Given the description of an element on the screen output the (x, y) to click on. 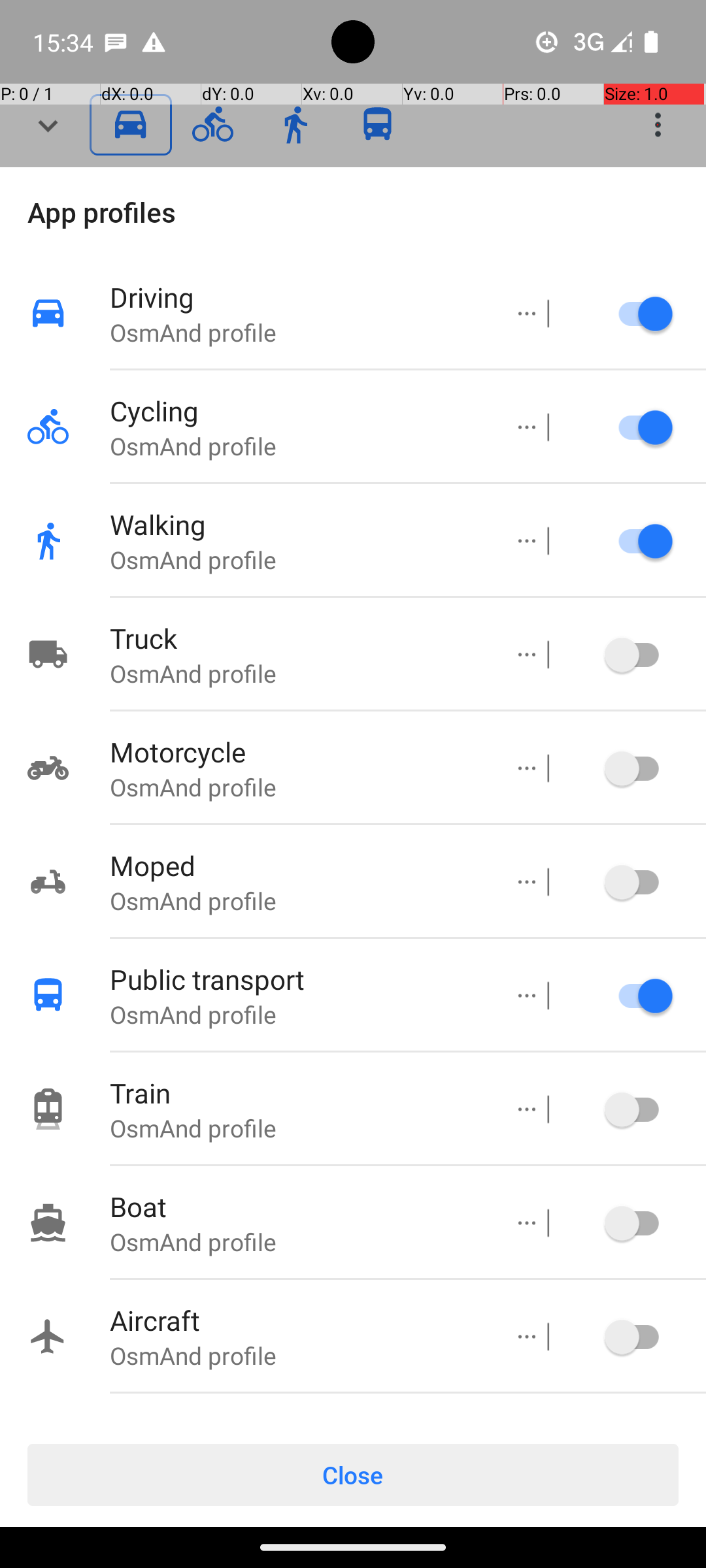
Close the dialog Element type: android.view.View (353, 125)
App profiles Element type: android.widget.TextView (353, 211)
OsmAnd profile Element type: android.widget.TextView (295, 331)
Truck Element type: android.widget.TextView (295, 637)
Motorcycle Element type: android.widget.TextView (295, 751)
Moped Element type: android.widget.TextView (295, 864)
Train Element type: android.widget.TextView (295, 1092)
Boat Element type: android.widget.TextView (295, 1206)
Aircraft Element type: android.widget.TextView (295, 1319)
Skiing Element type: android.widget.TextView (295, 1419)
